Given the description of an element on the screen output the (x, y) to click on. 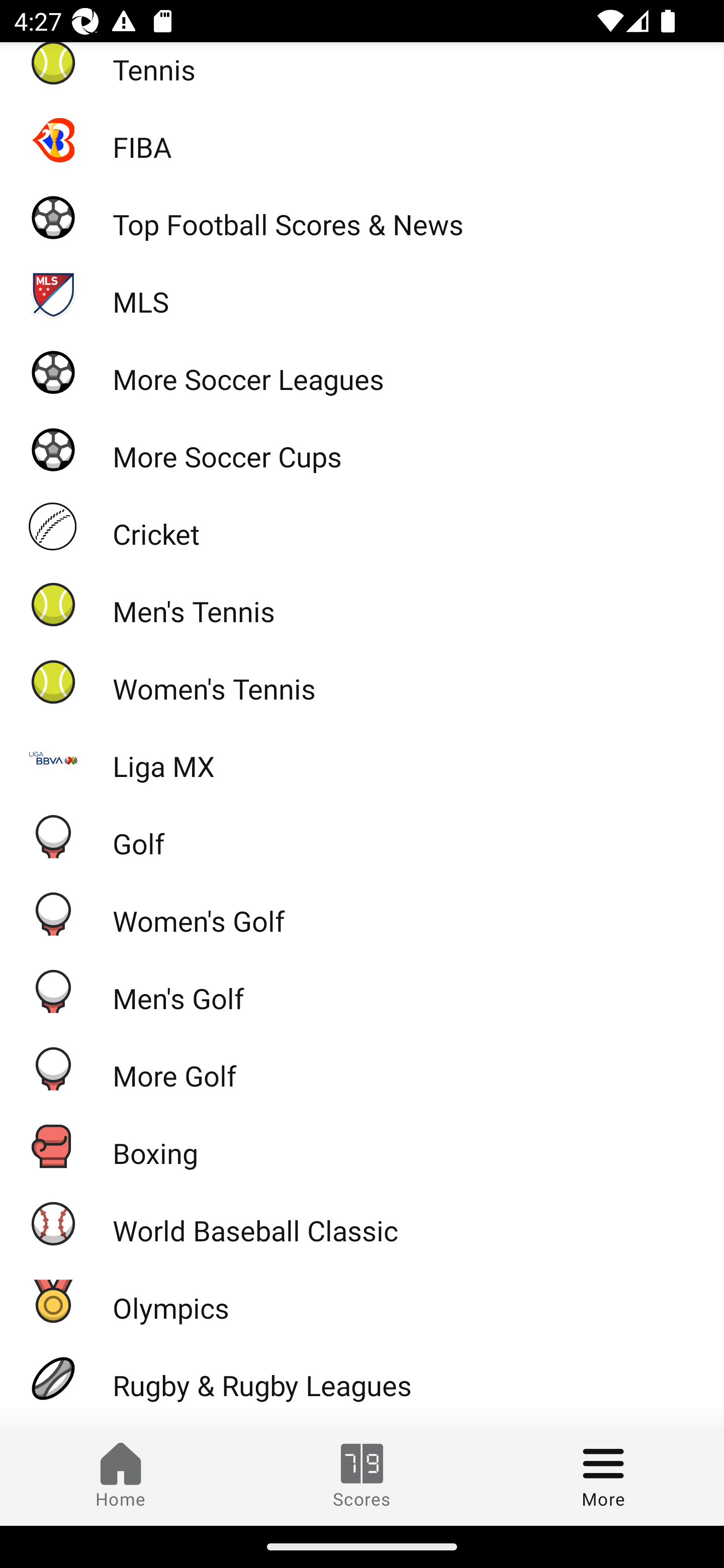
Tennis (362, 71)
FIBA  (362, 139)
Top Football Scores & News (362, 216)
MLS (362, 293)
More Soccer Leagues (362, 371)
More Soccer Cups (362, 448)
Cricket G Cricket (362, 526)
Men's Tennis (362, 604)
Women's Tennis (362, 680)
Liga MX (362, 758)
Golf (362, 836)
Women's Golf (362, 912)
Men's Golf (362, 990)
More Golf (362, 1068)
Boxing (362, 1145)
World Baseball Classic (362, 1222)
Olympics (362, 1300)
Rugby & Rugby Leagues (362, 1378)
Home (120, 1475)
Scores (361, 1475)
